Given the description of an element on the screen output the (x, y) to click on. 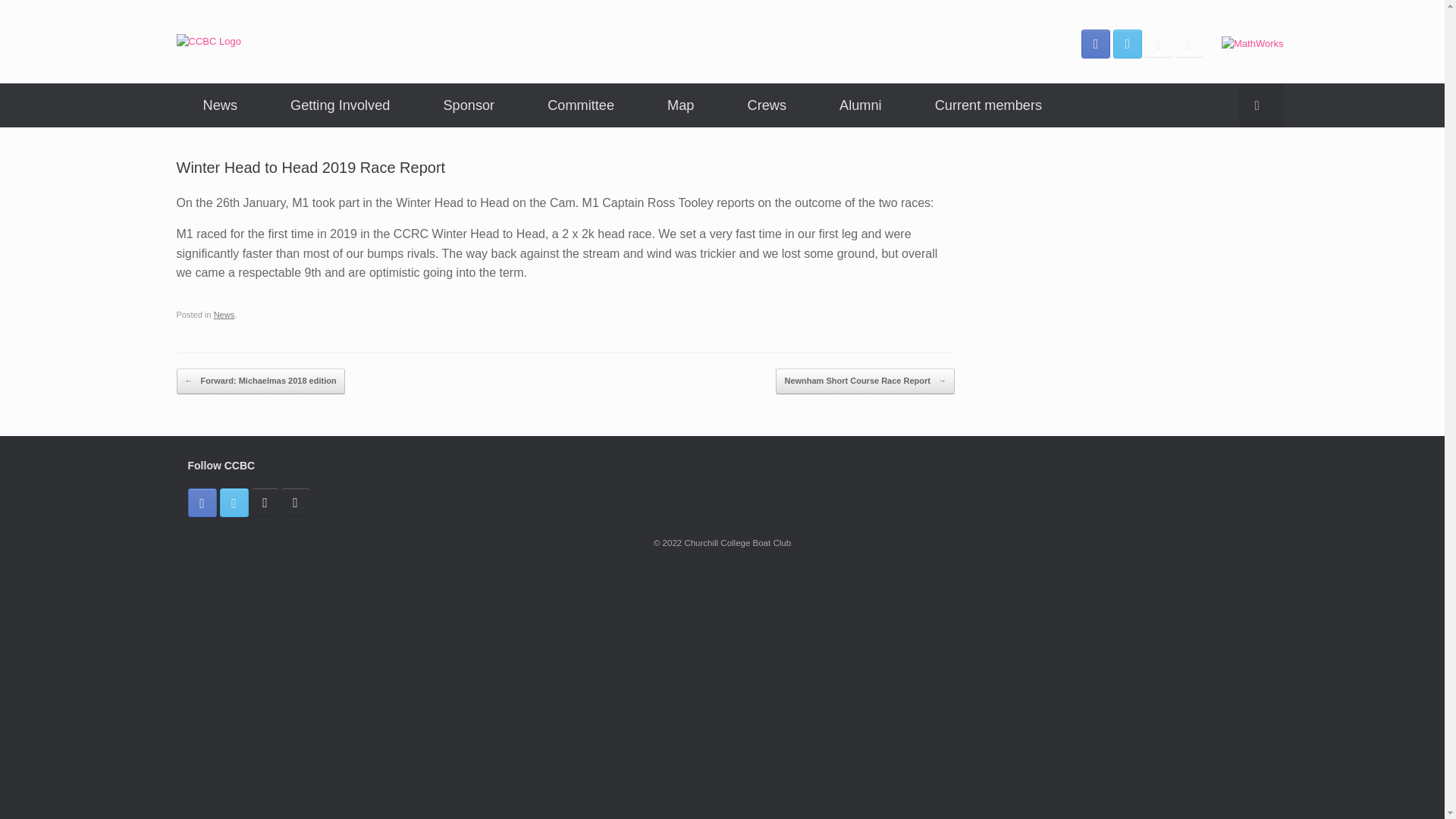
Current members (988, 105)
News (224, 314)
Map (680, 105)
CCBC YouTube (1188, 42)
Alumni (860, 105)
CCBC Facebook (201, 502)
Committee (580, 105)
CCBC Instagram (265, 501)
Winter Head to Head 2019 Race Report (310, 167)
Sponsor (468, 105)
CCBC Instagram (1158, 42)
CCBC (208, 41)
CCBC Twitter (1127, 42)
CCBC Facebook (1095, 42)
CCBC Twitter (233, 502)
